Given the description of an element on the screen output the (x, y) to click on. 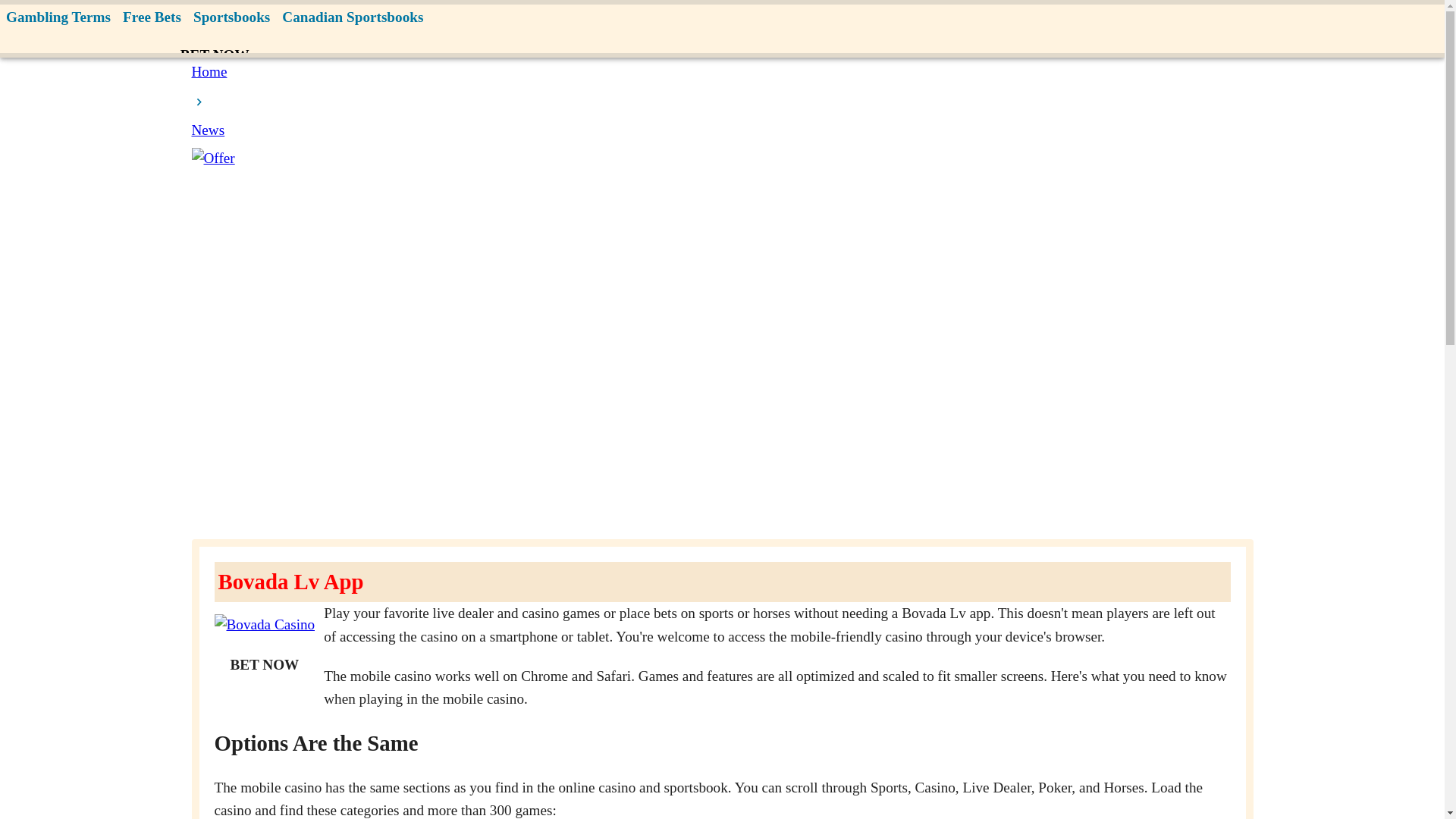
BET NOW (264, 665)
Canadian Sportsbooks (352, 18)
Sportsbooks (231, 18)
Home (208, 71)
BET NOW (215, 55)
Free Bets (151, 18)
News (207, 130)
Gambling Terms (58, 18)
